Given the description of an element on the screen output the (x, y) to click on. 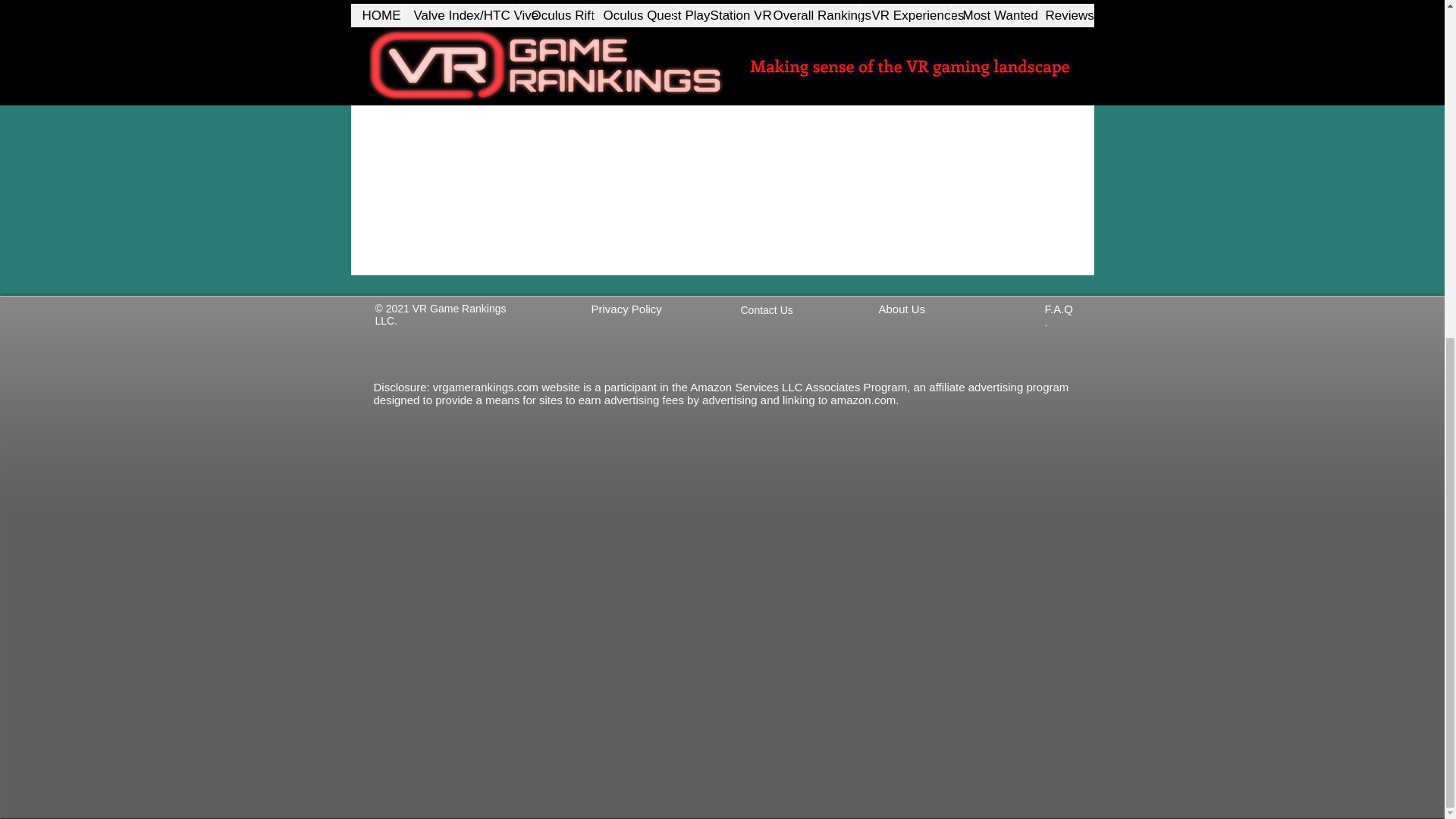
External YouTube (711, 154)
